Given the description of an element on the screen output the (x, y) to click on. 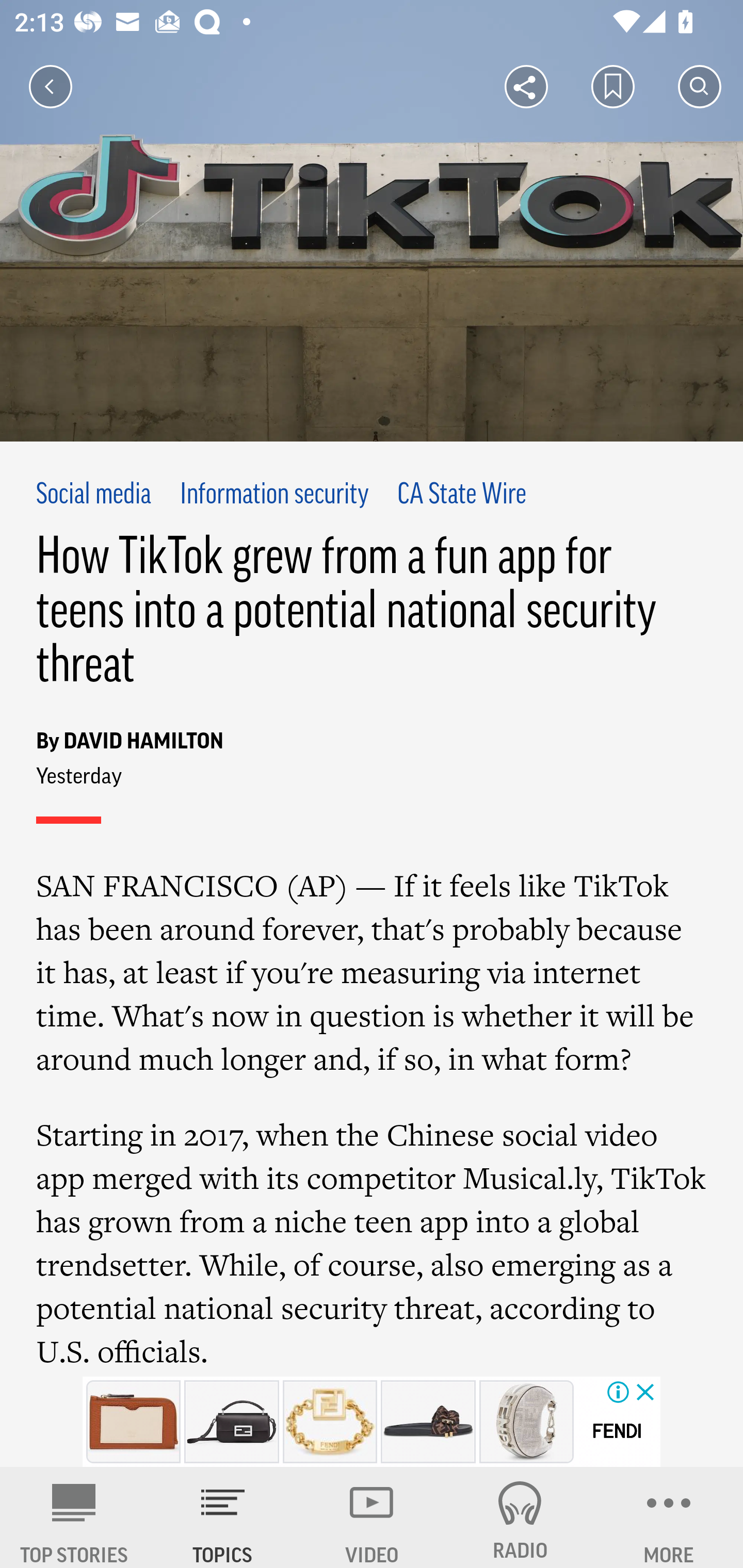
Social media (93, 496)
Information security (274, 496)
CA State Wire (462, 496)
fendi-feel-brown-satin-slides-8x8142ae7sf0r7v (428, 1420)
AP News TOP STORIES (74, 1517)
TOPICS (222, 1517)
VIDEO (371, 1517)
RADIO (519, 1517)
MORE (668, 1517)
